Given the description of an element on the screen output the (x, y) to click on. 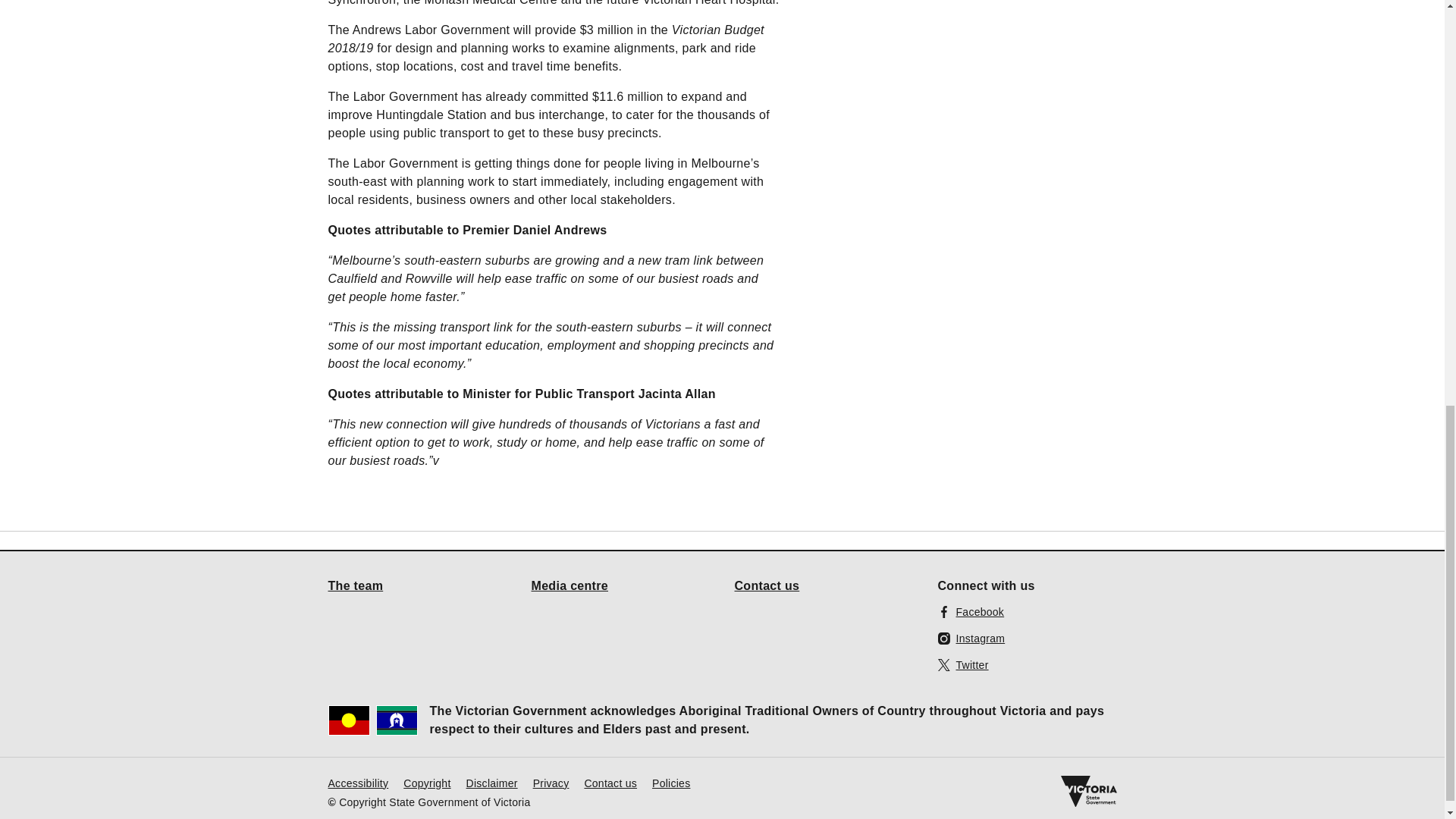
Policies (671, 782)
Disclaimer (491, 782)
Copyright (426, 782)
Victoria government home (1087, 791)
Accessibility (357, 782)
Facebook (970, 611)
Contact us (766, 585)
Instagram (970, 638)
Privacy (550, 782)
Contact us (610, 782)
The team (354, 585)
Twitter (962, 663)
Media centre (569, 585)
